Given the description of an element on the screen output the (x, y) to click on. 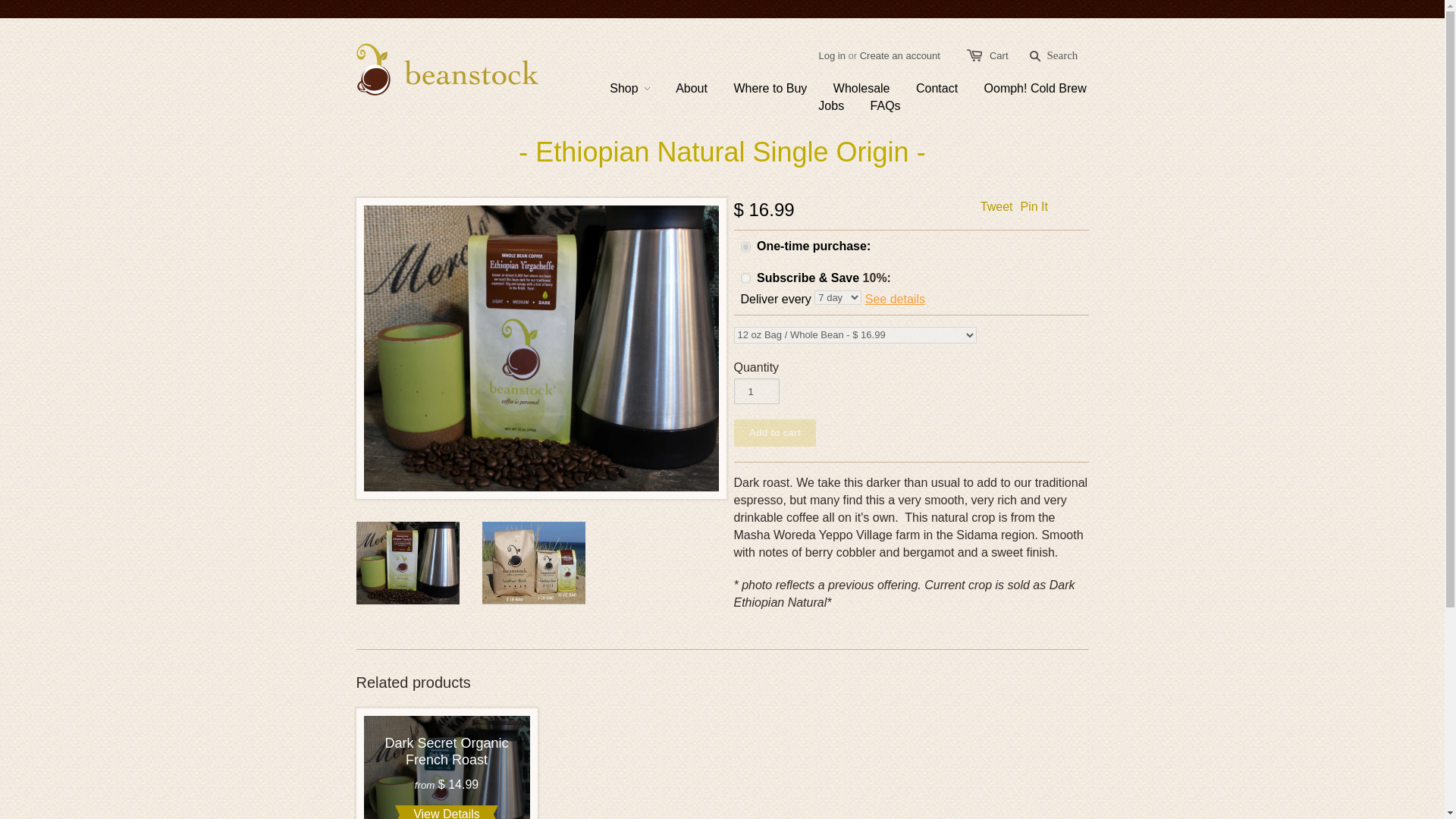
Shopping Cart (999, 55)
FAQs (874, 105)
Wholesale (849, 88)
Add to cart (774, 432)
Oomph! Cold Brew (1023, 88)
1 (755, 391)
Jobs (819, 105)
Cart (999, 55)
Shop (629, 88)
Contact (925, 88)
Tweet (996, 205)
Where to Buy (758, 88)
Add to cart (774, 432)
Pin It (1034, 205)
See details (894, 298)
